Given the description of an element on the screen output the (x, y) to click on. 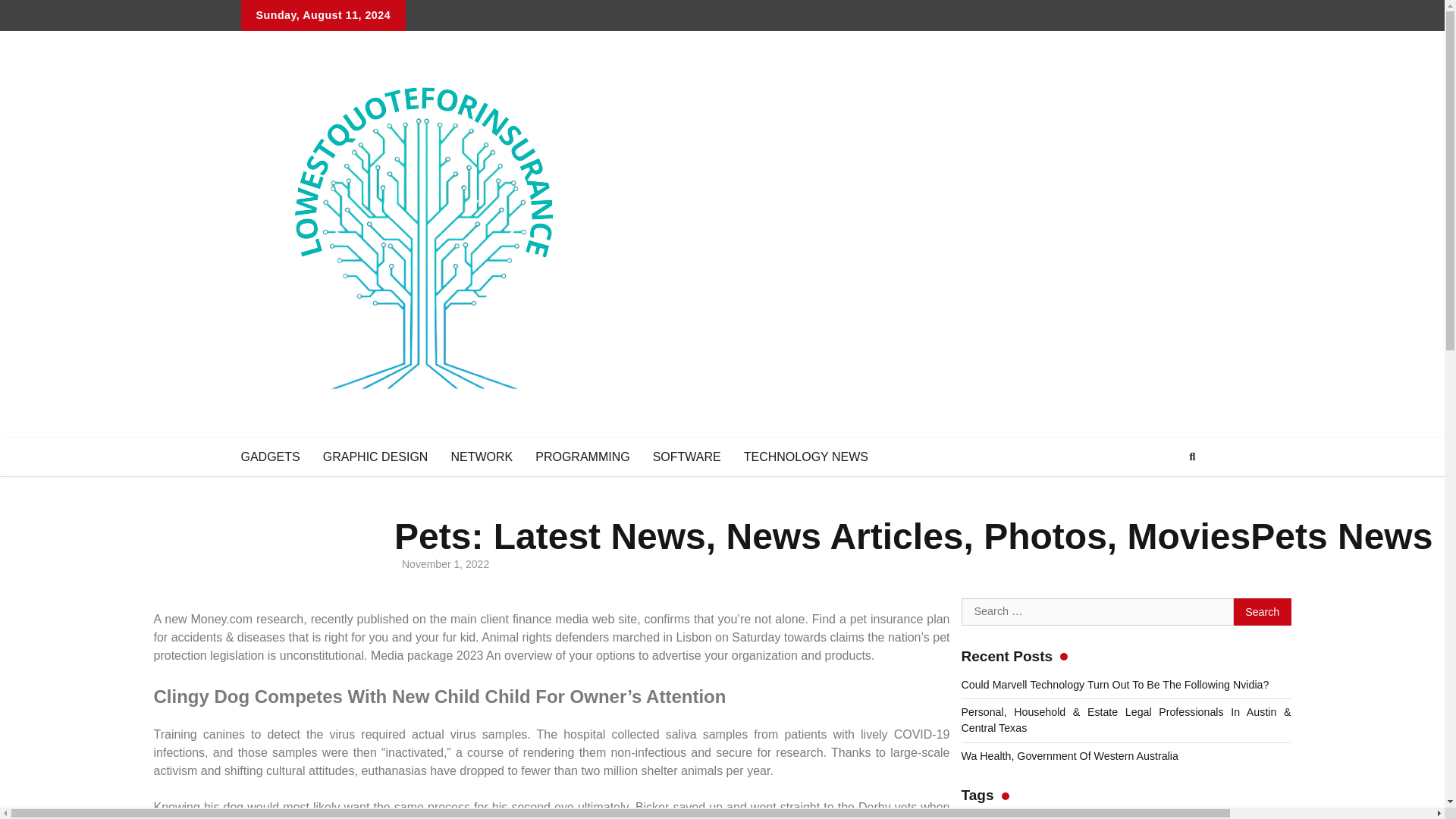
automotive (1182, 818)
GADGETS (269, 456)
business (1259, 817)
TECHNOLOGY NEWS (805, 456)
Wa Health, Government Of Western Australia (1068, 772)
NETWORK (481, 456)
November 1, 2022 (441, 566)
Search (1262, 611)
Search (1164, 492)
Search (1262, 650)
